Given the description of an element on the screen output the (x, y) to click on. 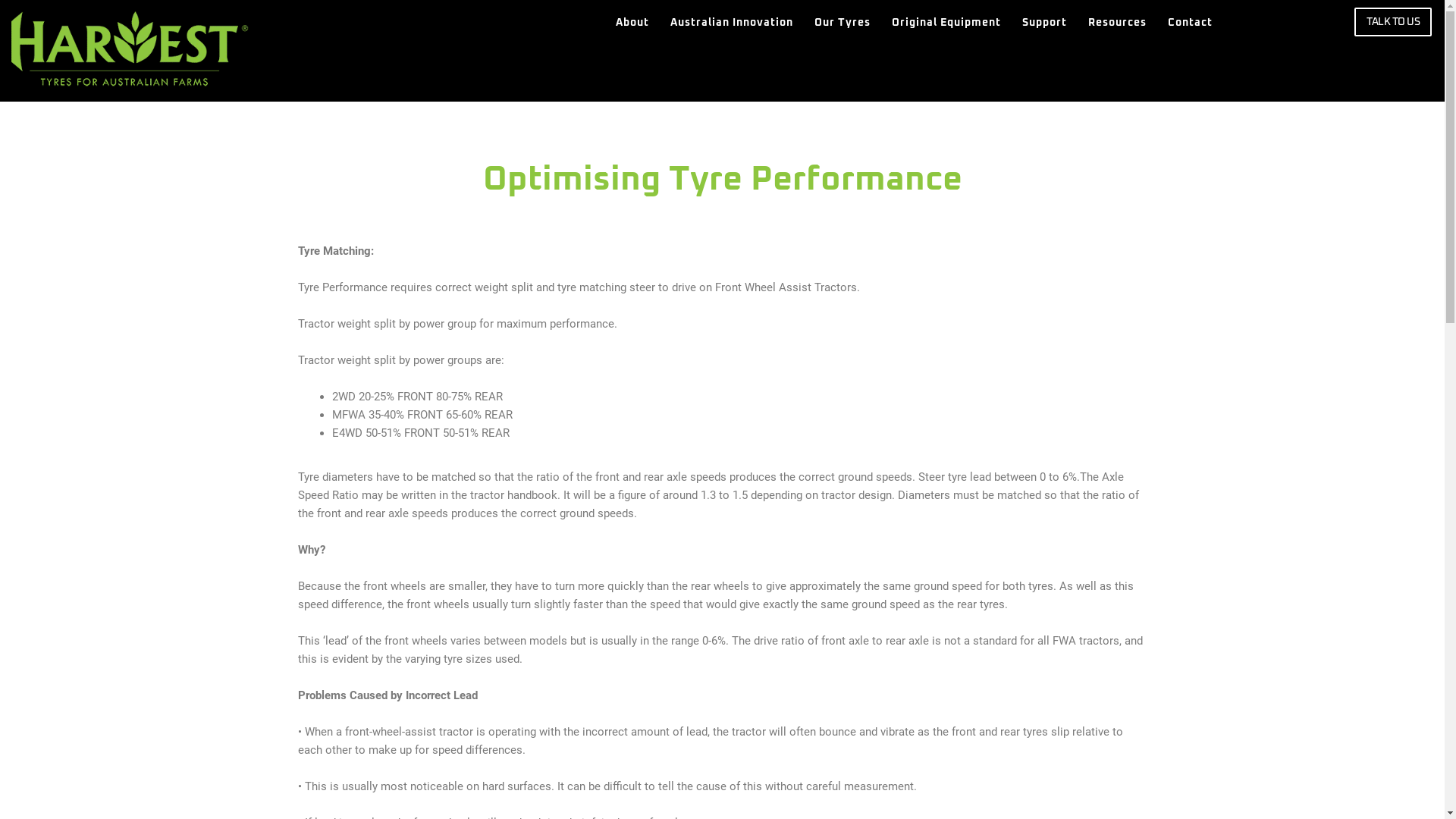
Australian Innovation Element type: text (731, 22)
Support Element type: text (1044, 22)
Contact Element type: text (1190, 22)
About Element type: text (632, 22)
Resources Element type: text (1117, 22)
Our Tyres Element type: text (842, 22)
TALK TO US Element type: text (1392, 21)
Original Equipment Element type: text (946, 22)
